Given the description of an element on the screen output the (x, y) to click on. 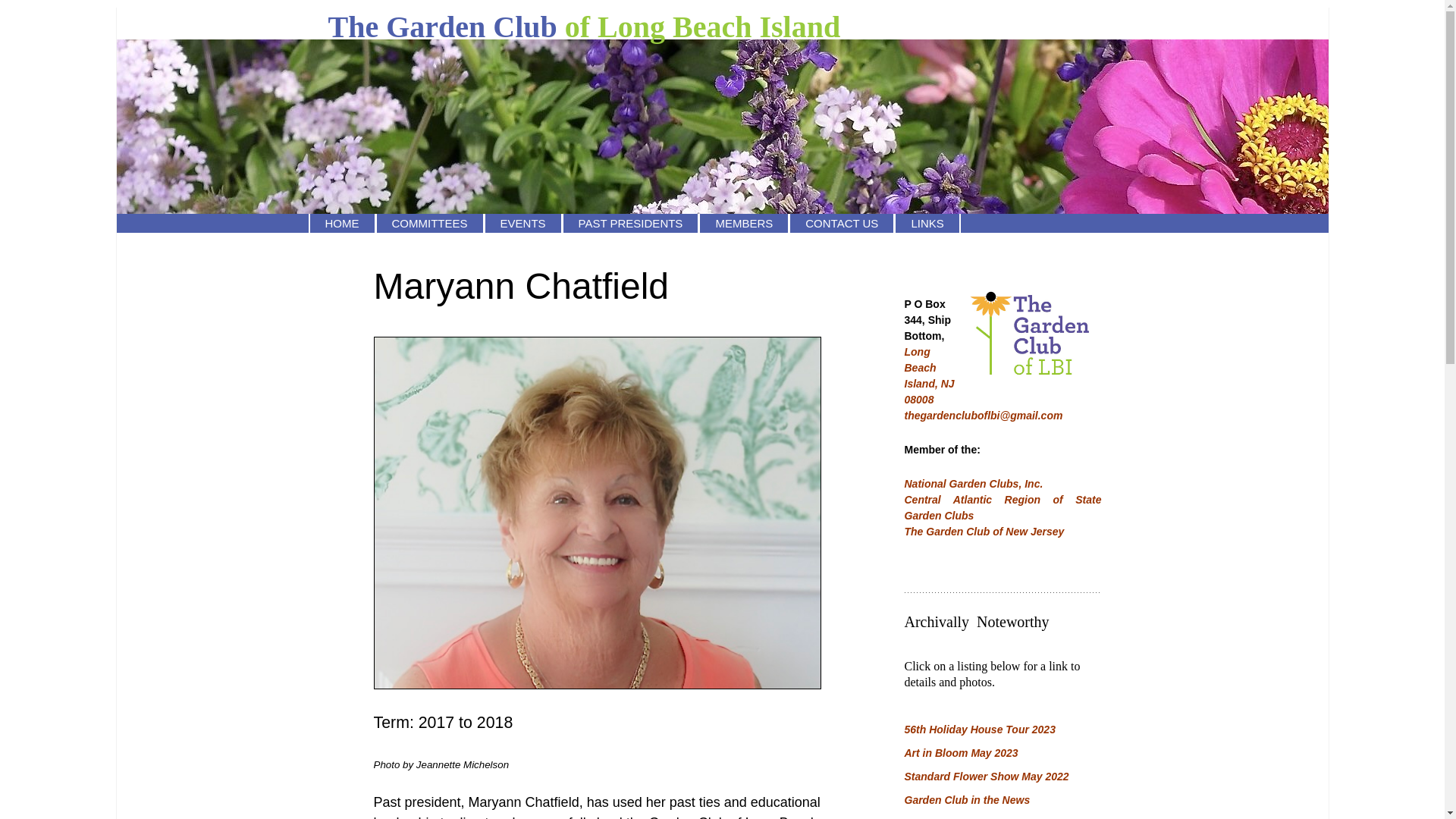
The Garden Club (722, 26)
HOME (341, 222)
COMMITTEES (430, 222)
EVENTS (522, 222)
The Garden Club of Long Beach Island (722, 26)
